Given the description of an element on the screen output the (x, y) to click on. 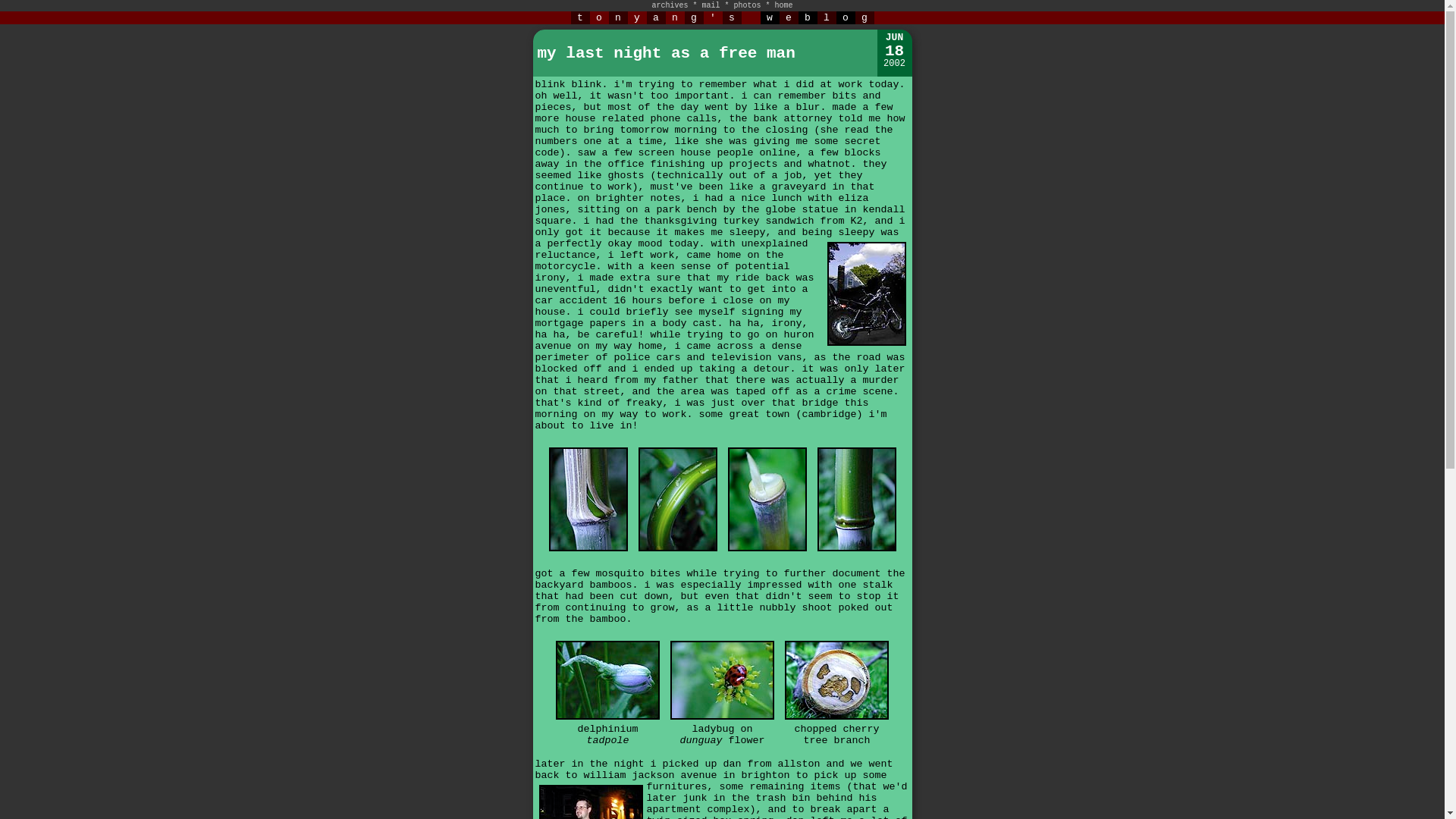
mail (710, 5)
my last night as a free man (665, 52)
photos (747, 5)
home (783, 5)
